Given the description of an element on the screen output the (x, y) to click on. 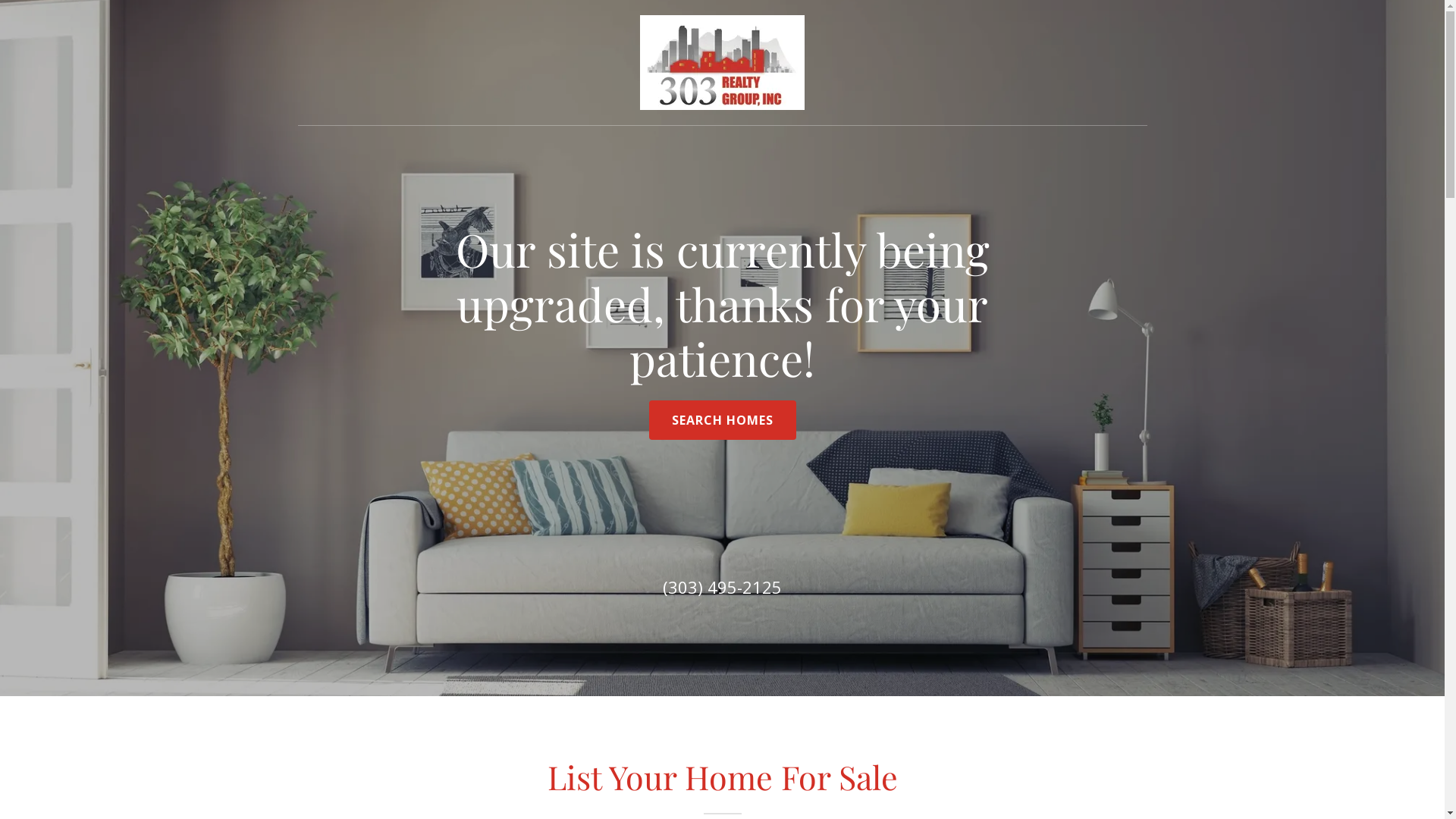
303 Realty Group, Inc Element type: hover (722, 61)
(303) 495-2125 Element type: text (721, 586)
SEARCH HOMES Element type: text (722, 419)
